Given the description of an element on the screen output the (x, y) to click on. 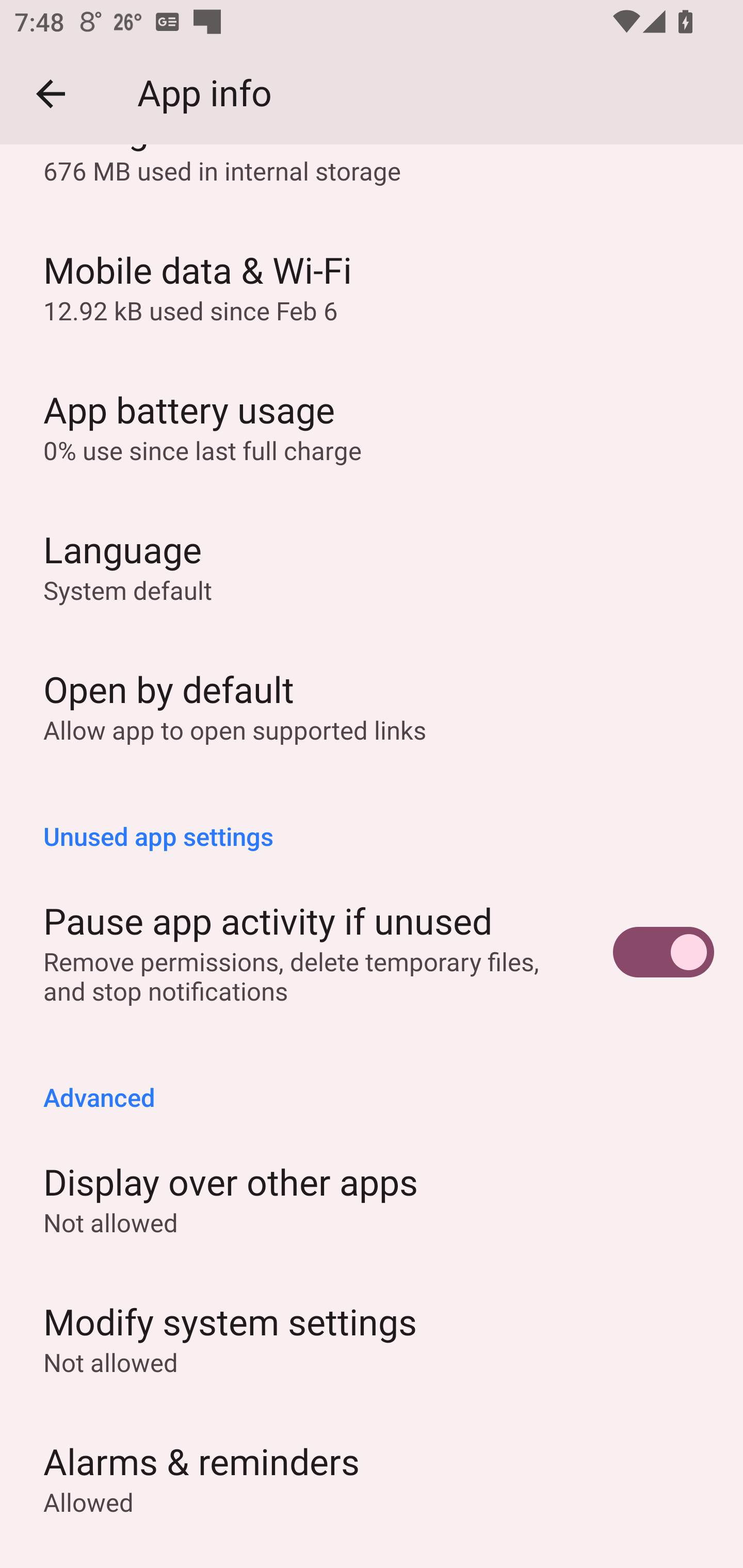
Navigate up (50, 93)
Mobile data & Wi‑Fi 12.92 kB used since Feb 6 (371, 285)
App battery usage 0% use since last full charge (371, 425)
Language System default (371, 565)
Open by default Allow app to open supported links (371, 706)
Display over other apps Not allowed (371, 1198)
Modify system settings Not allowed (371, 1338)
Alarms & reminders Allowed (371, 1477)
